Given the description of an element on the screen output the (x, y) to click on. 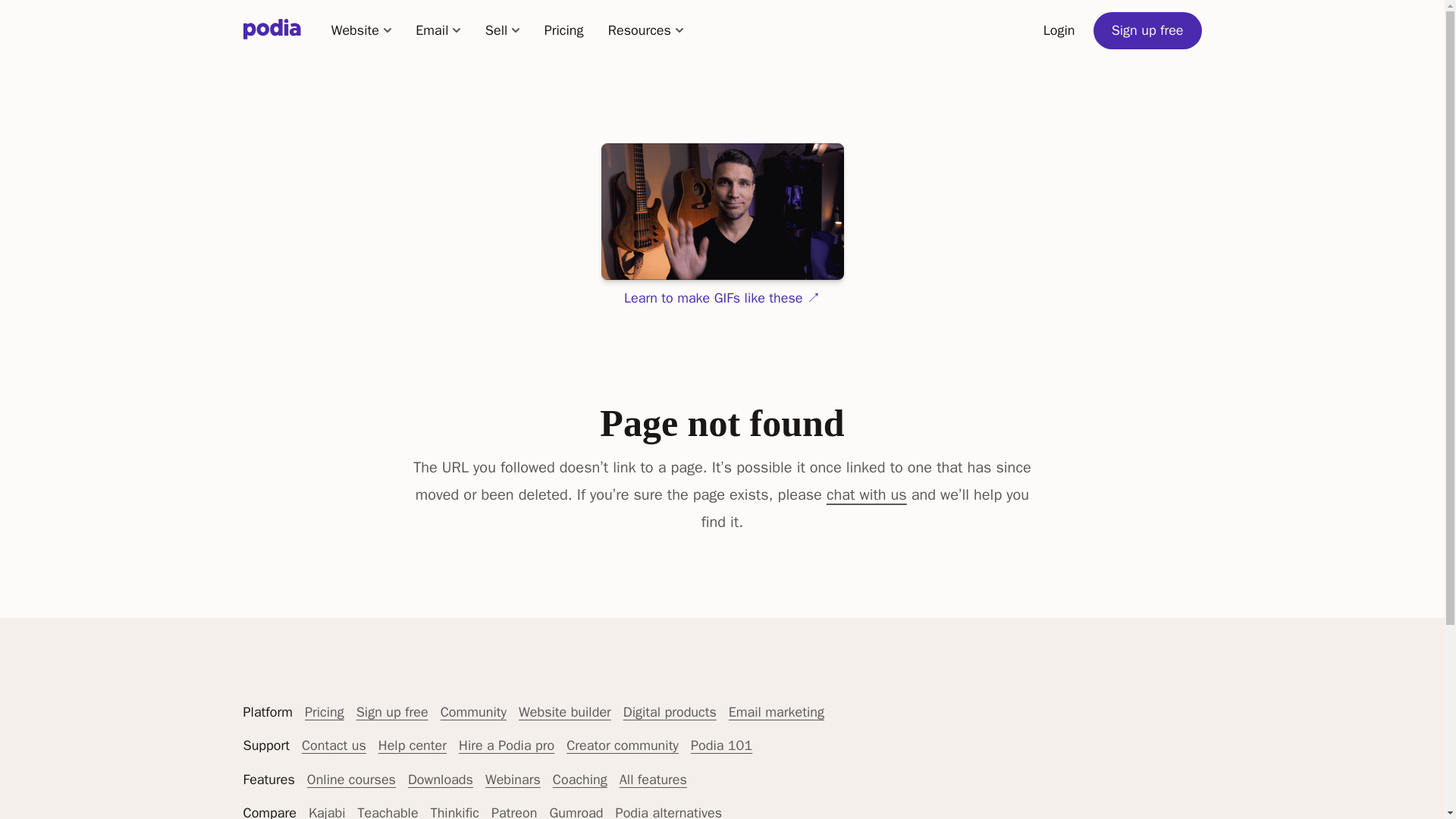
Downloads (440, 779)
Teachable (386, 811)
Contact us (333, 745)
Webinars (512, 779)
Patreon (514, 811)
Podia (271, 29)
Pricing (323, 711)
Creator community (622, 745)
Resources (645, 30)
Hire a Podia pro (506, 745)
